Given the description of an element on the screen output the (x, y) to click on. 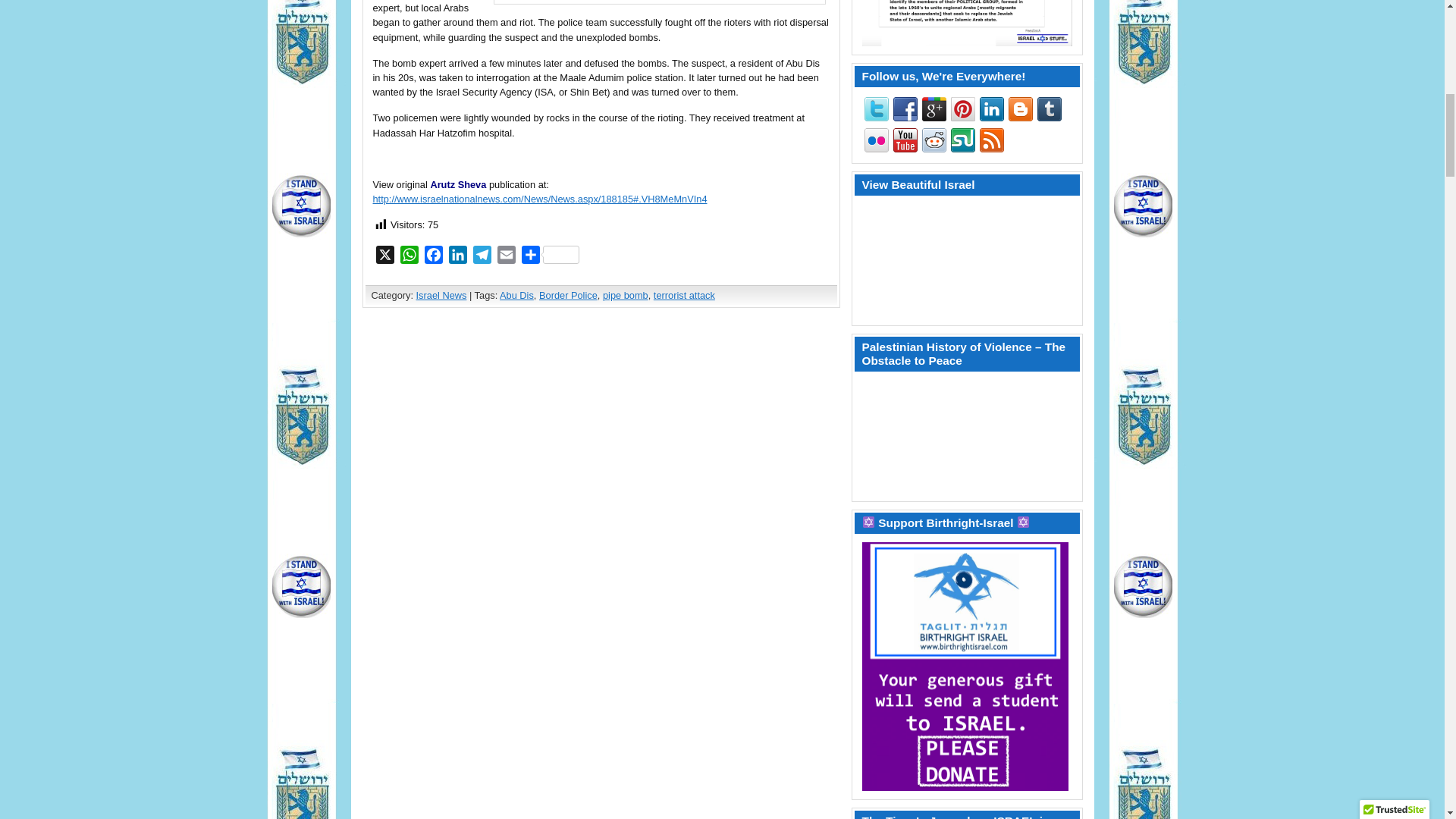
LinkedIn (457, 257)
X (384, 257)
WhatsApp (409, 257)
Telegram (482, 257)
Arabs in Capital Hurl Pipe Bomb at Border Police (539, 198)
Facebook (433, 257)
